Given the description of an element on the screen output the (x, y) to click on. 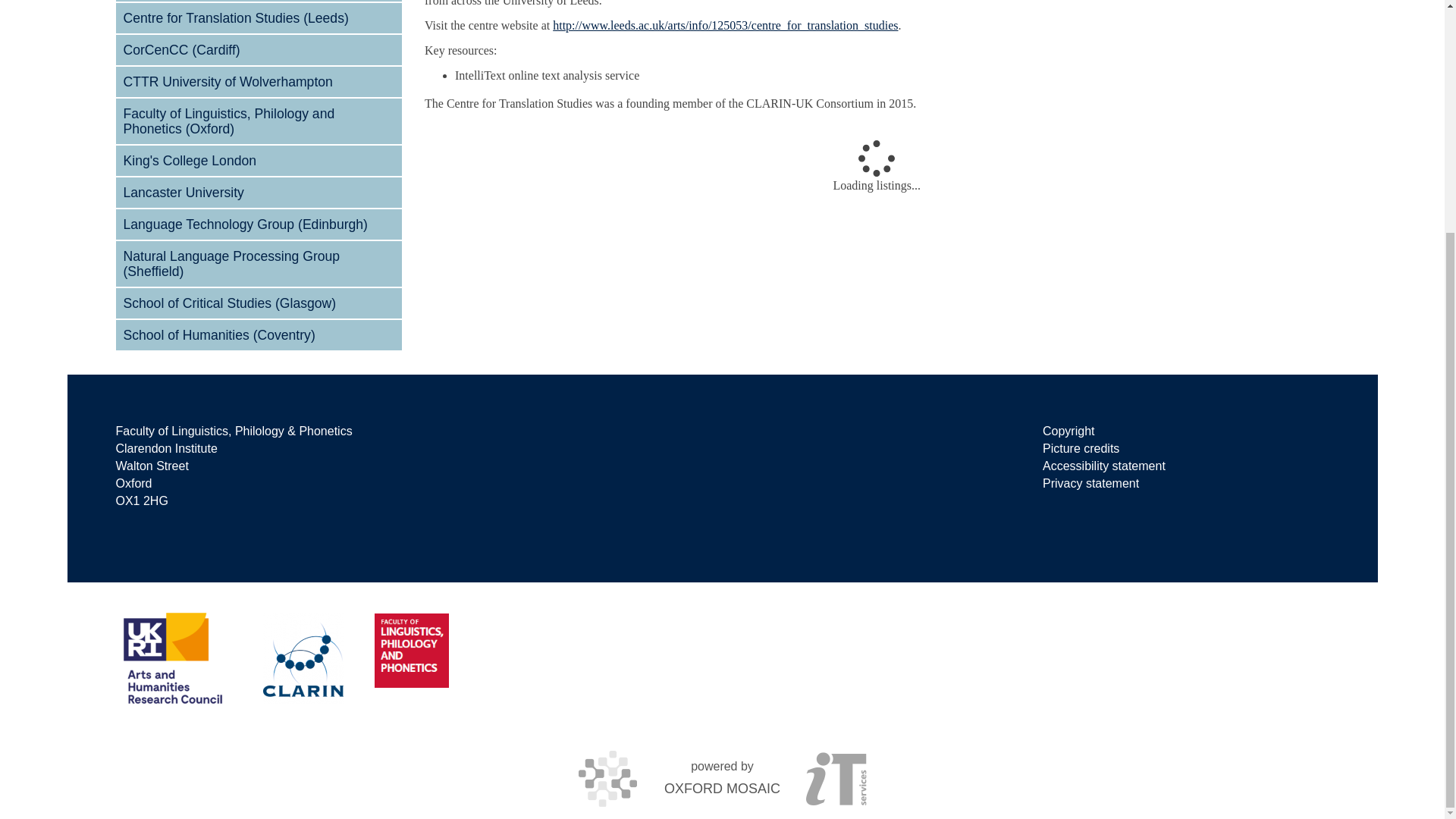
AHRC (176, 657)
